Given the description of an element on the screen output the (x, y) to click on. 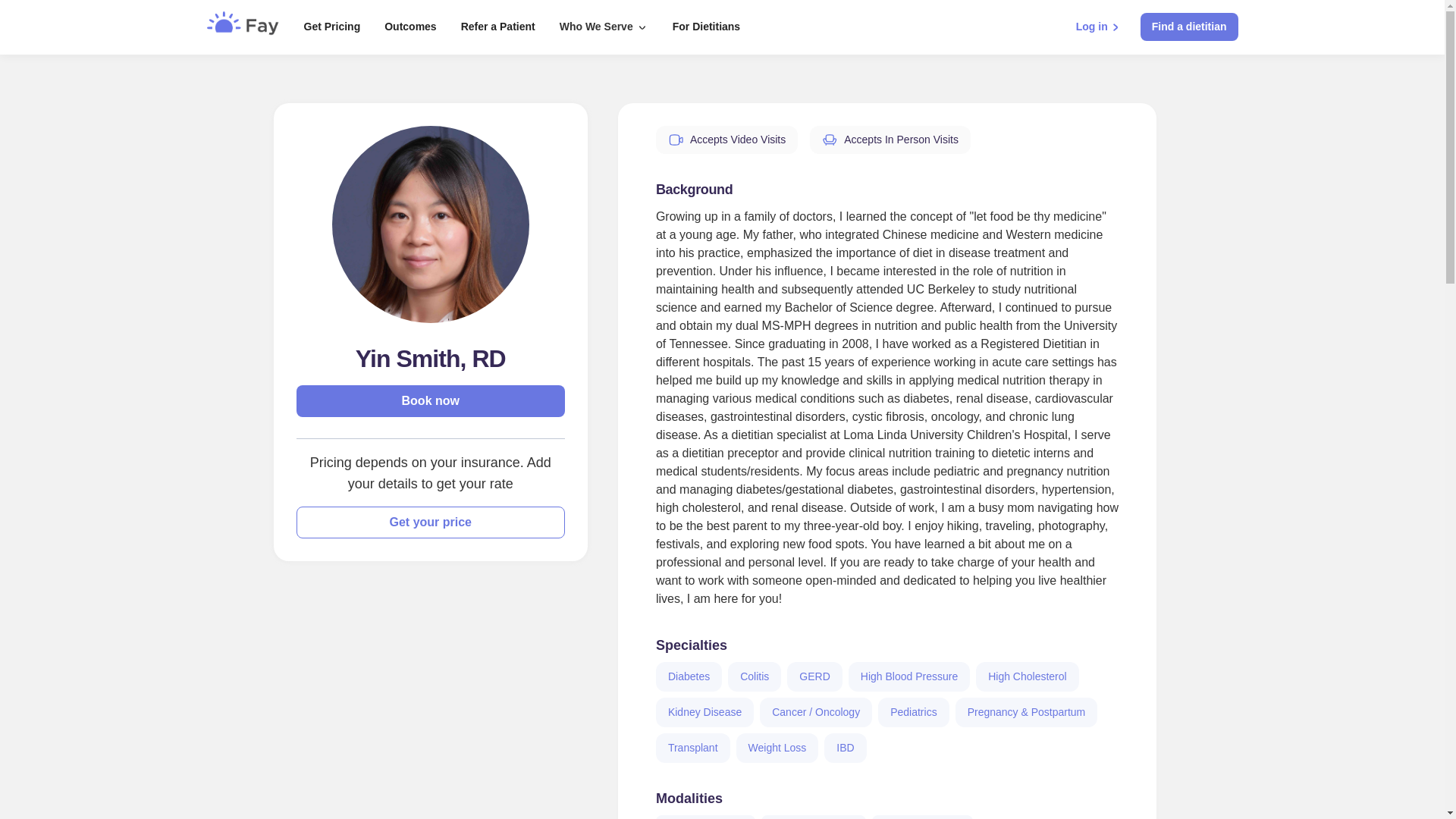
Get Pricing (331, 26)
Outcomes (410, 26)
Refer a Patient (497, 26)
